Given the description of an element on the screen output the (x, y) to click on. 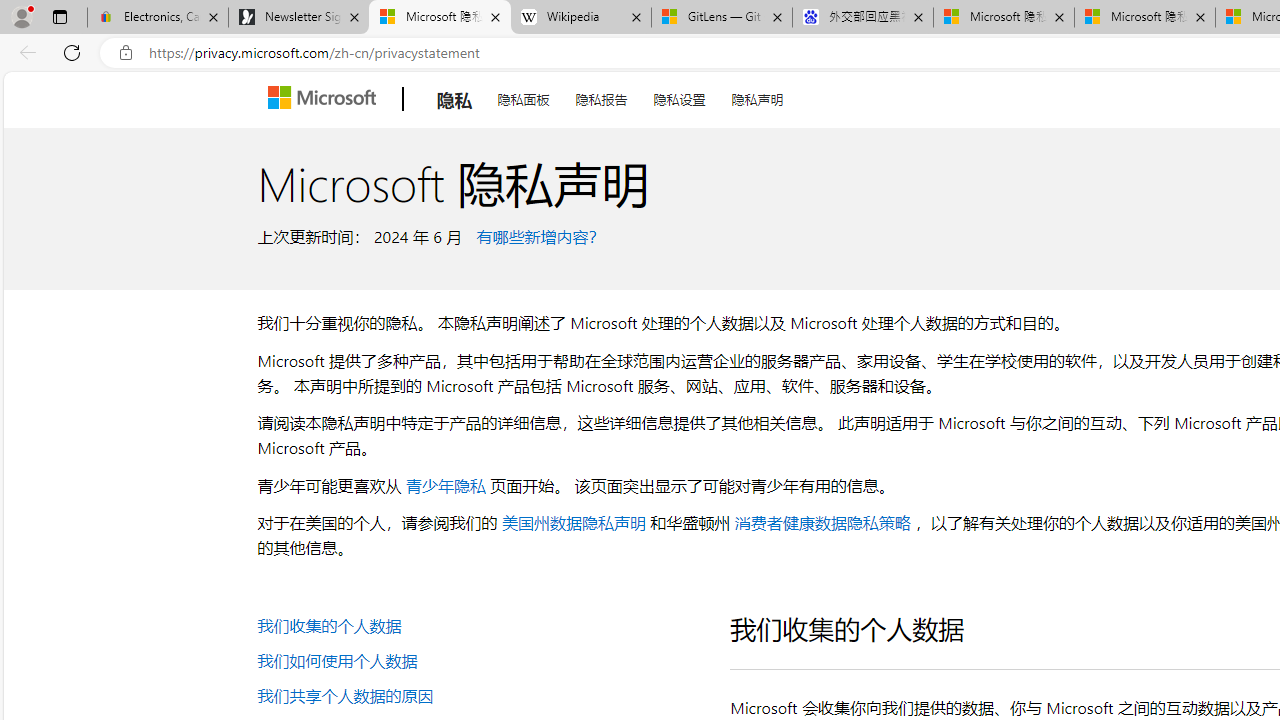
Microsoft (326, 99)
